Given the description of an element on the screen output the (x, y) to click on. 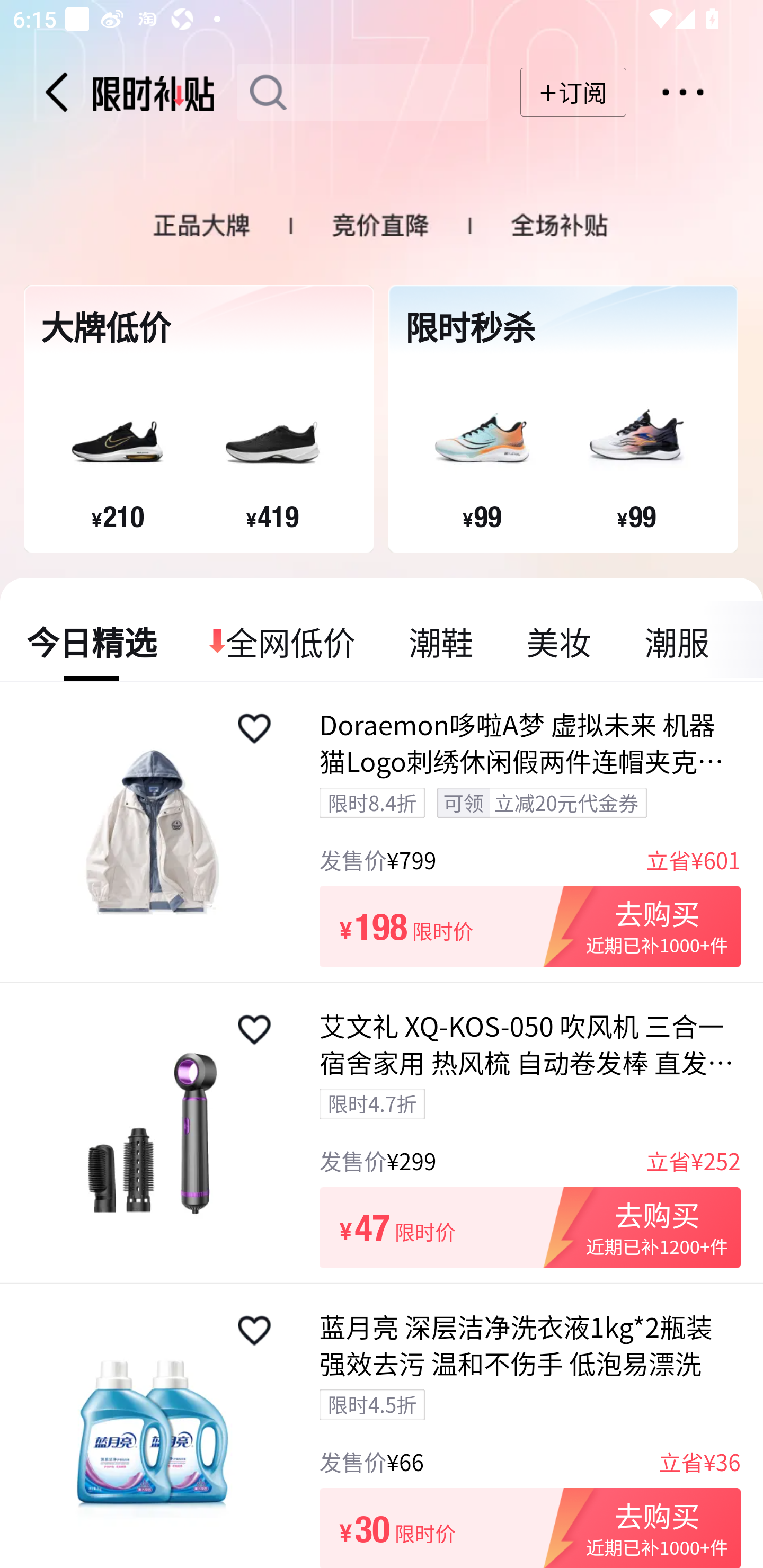
+订阅 (572, 92)
resize,w_152 ¥210 (117, 443)
resize,w_152 ¥419 (271, 443)
resize,w_152 ¥99 (481, 443)
resize,w_152 ¥99 (636, 443)
¥210 (118, 516)
¥419 (272, 516)
¥99 (482, 516)
¥99 (636, 516)
今日精选 (92, 640)
9e7fc8ca-86cd-3a08-4a56-57b9d219ca85-30-45 全网低价 (283, 640)
潮鞋 (440, 640)
美妆 (558, 640)
潮服 (676, 640)
resize,w_60 (254, 728)
resize,w_60 (254, 1030)
resize,w_60 (254, 1331)
